Given the description of an element on the screen output the (x, y) to click on. 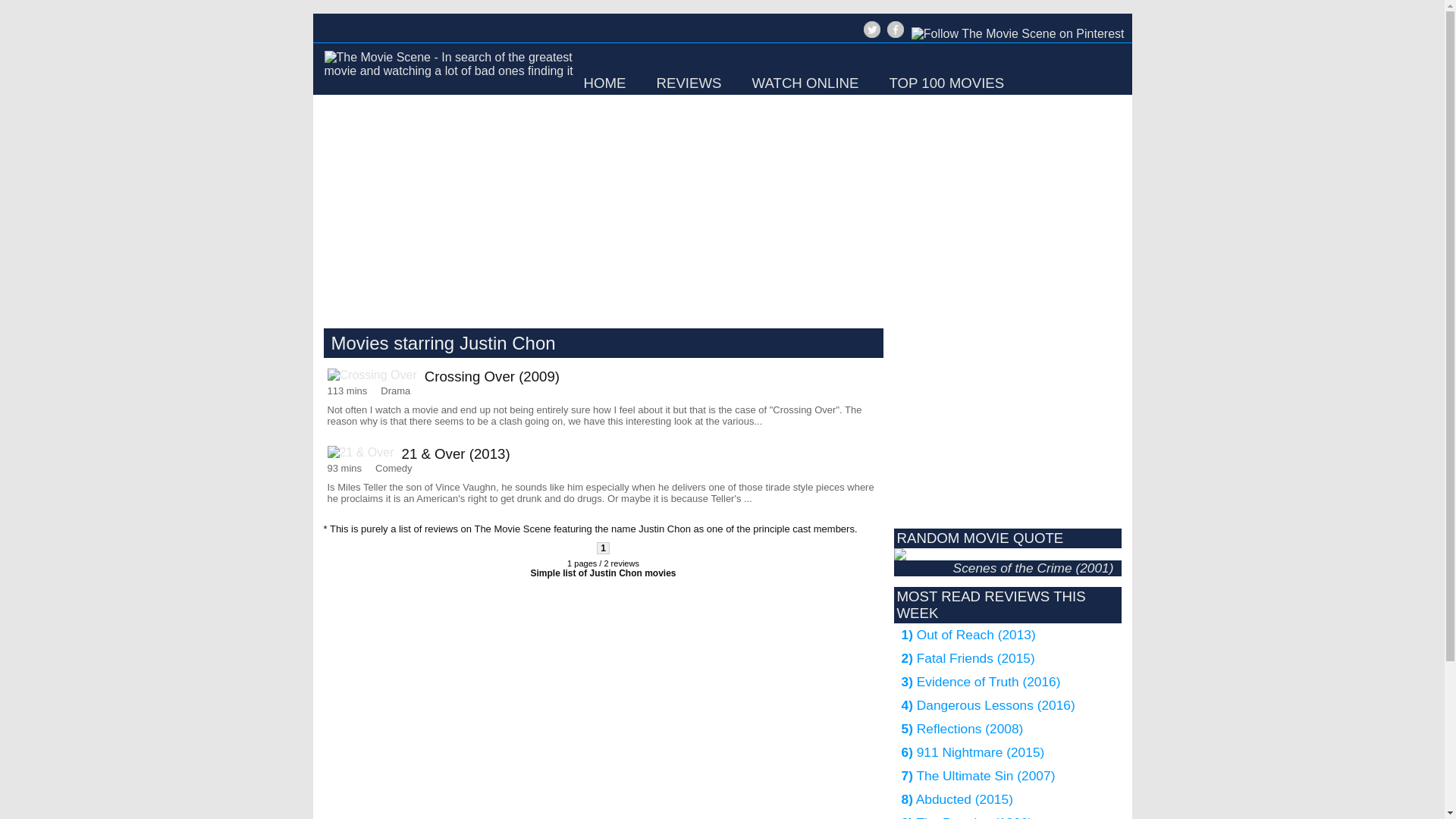
Follow The Movie Scene on Twitter (870, 37)
Like The Movie Scene on facebook (893, 37)
Like The Movie Scene on facebook (895, 29)
Follow The Movie Scene on Pinterest (1015, 37)
1 (603, 548)
WATCH ONLINE (805, 83)
Follow The Movie Scene on Pinterest (1017, 33)
Crossing Over (376, 375)
Follow The Movie Scene on Twitter (871, 29)
